Given the description of an element on the screen output the (x, y) to click on. 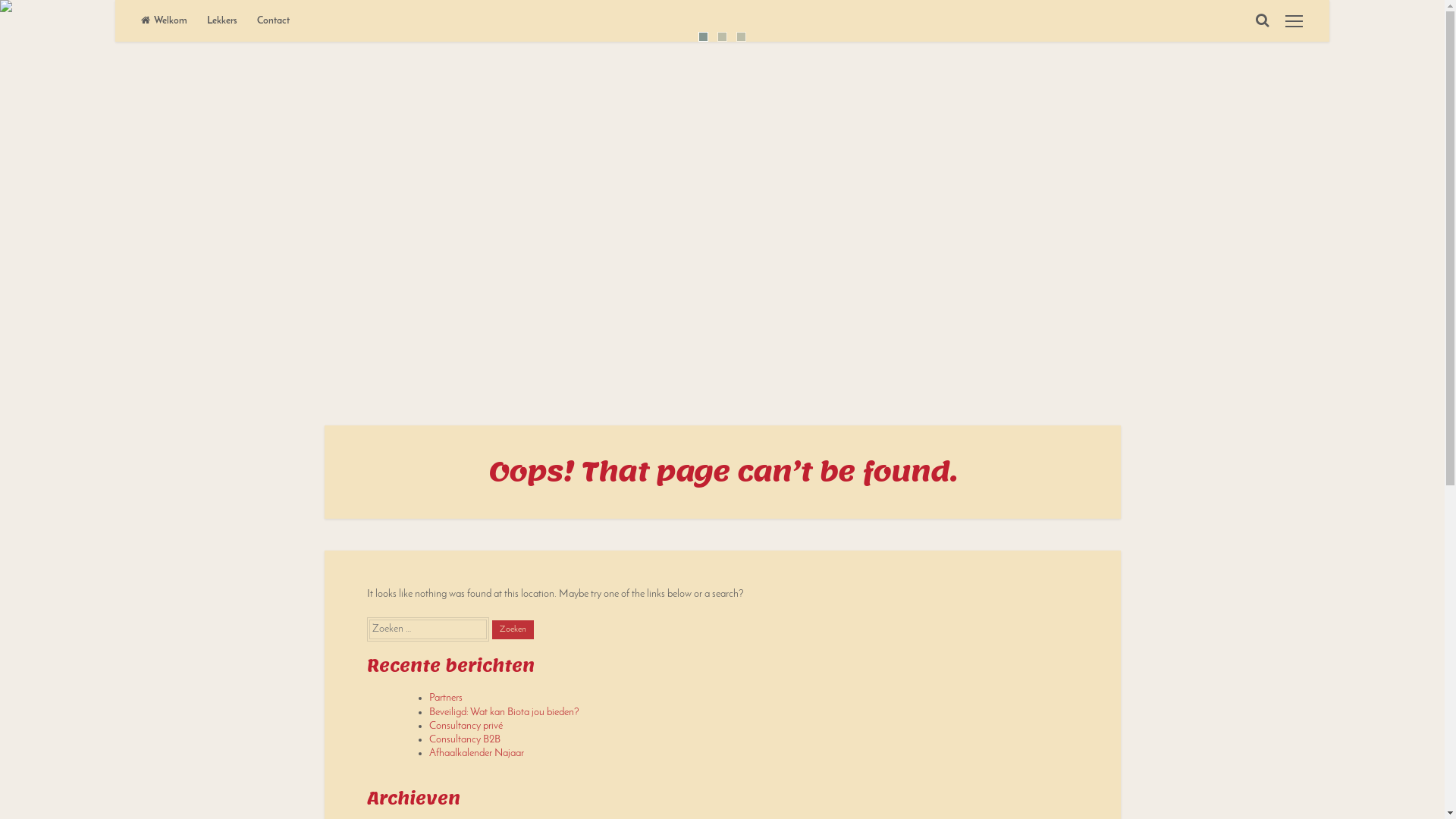
Lekkers Element type: text (222, 20)
Zoeken Element type: text (512, 629)
Beveiligd: Wat kan Biota jou bieden? Element type: text (504, 712)
Afhaalkalender Najaar Element type: text (476, 753)
Contact Element type: text (273, 20)
Welkom Element type: text (164, 20)
Partners Element type: text (445, 697)
Consultancy B2B Element type: text (464, 739)
